Given the description of an element on the screen output the (x, y) to click on. 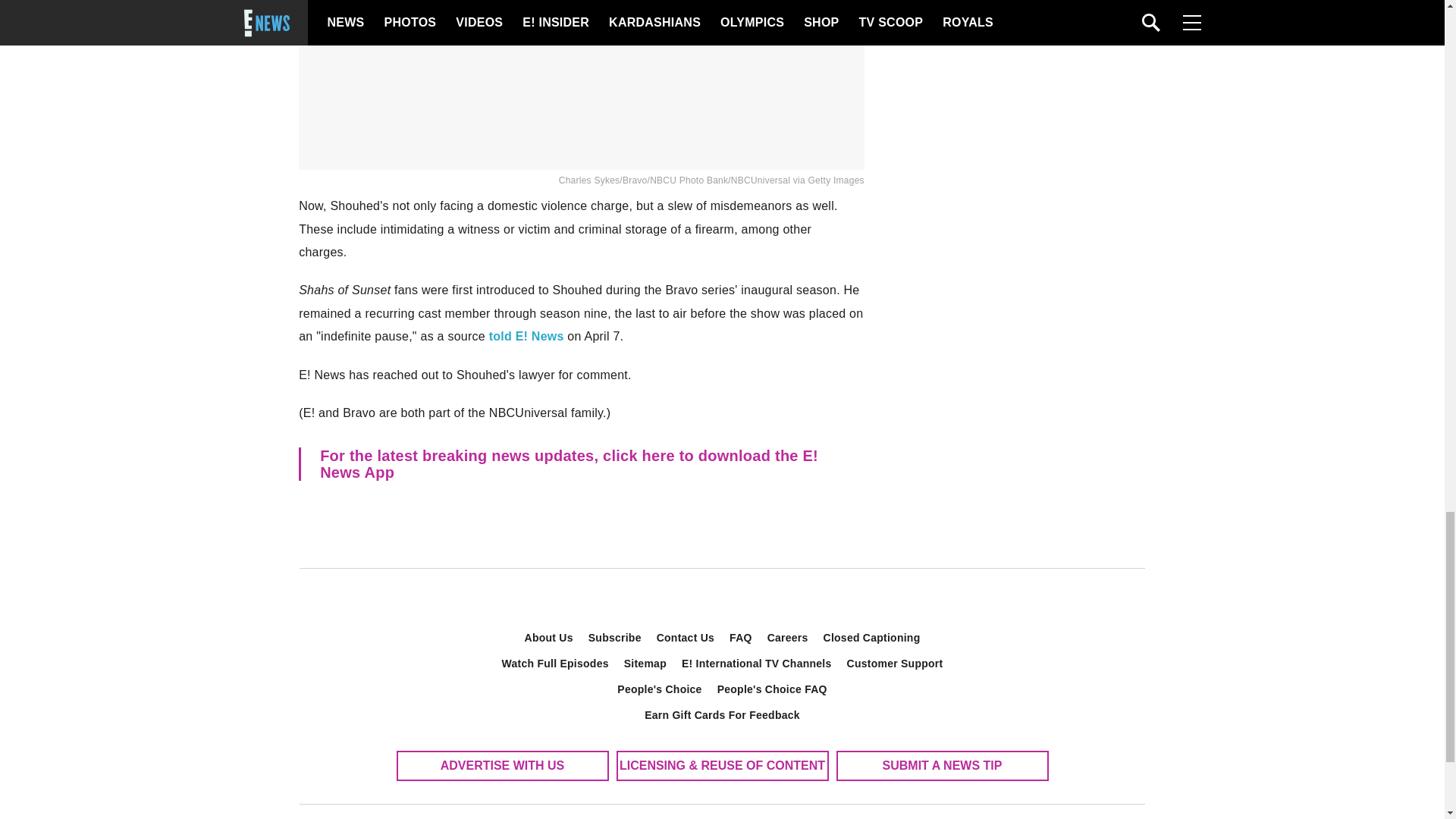
told E! News (526, 336)
